Given the description of an element on the screen output the (x, y) to click on. 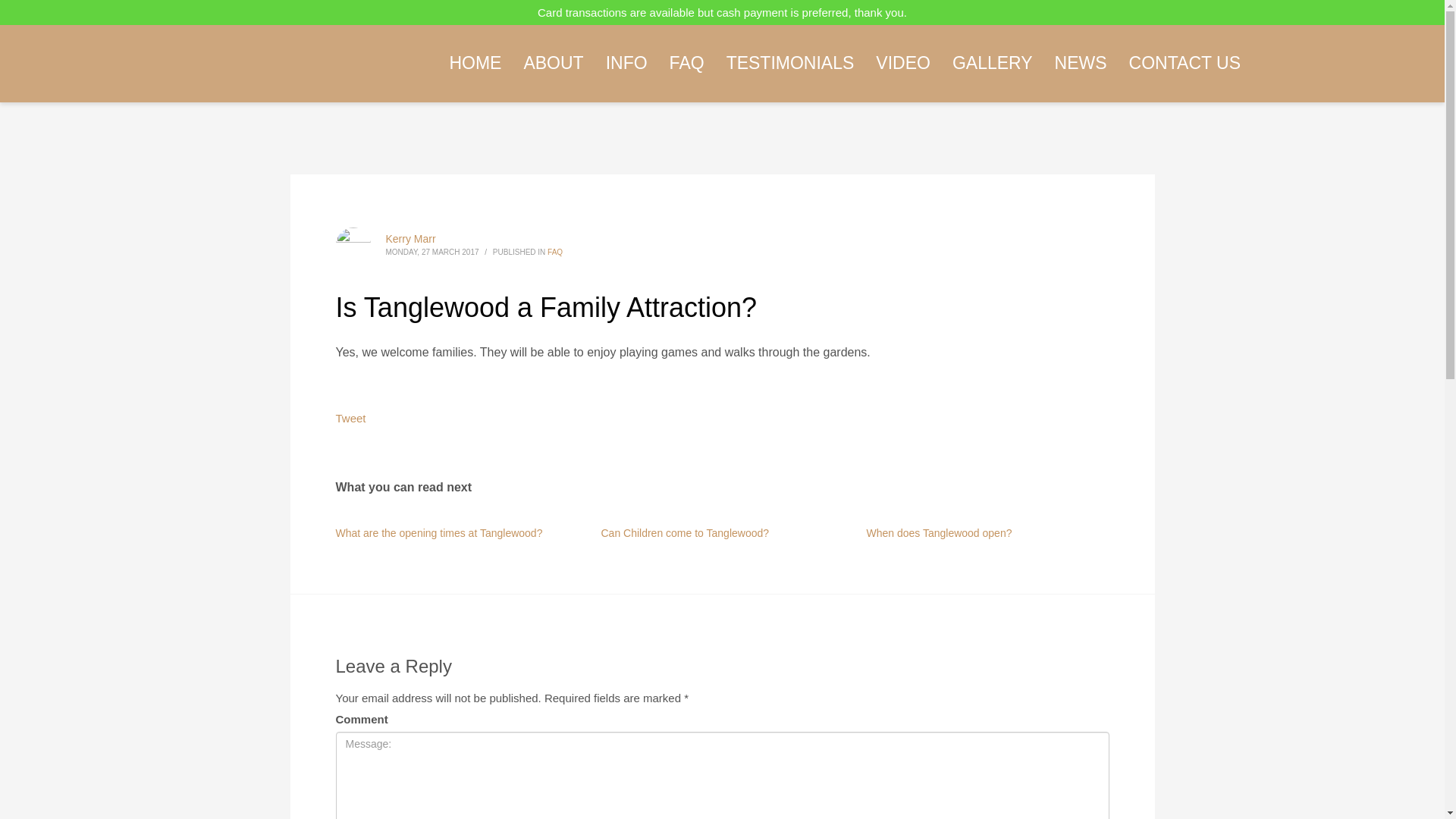
NEWS (1080, 62)
TESTIMONIALS (790, 62)
VIDEO (902, 62)
Can Children come to Tanglewood? (683, 532)
GALLERY (992, 62)
HOME (475, 62)
FAQ (554, 252)
Kerry Marr (410, 238)
Posts by Kerry Marr (410, 238)
ABOUT (552, 62)
When does Tanglewood open? (938, 532)
Tweet (349, 418)
INFO (626, 62)
CONTACT US (1184, 62)
What are the opening times at Tanglewood? (437, 532)
